Given the description of an element on the screen output the (x, y) to click on. 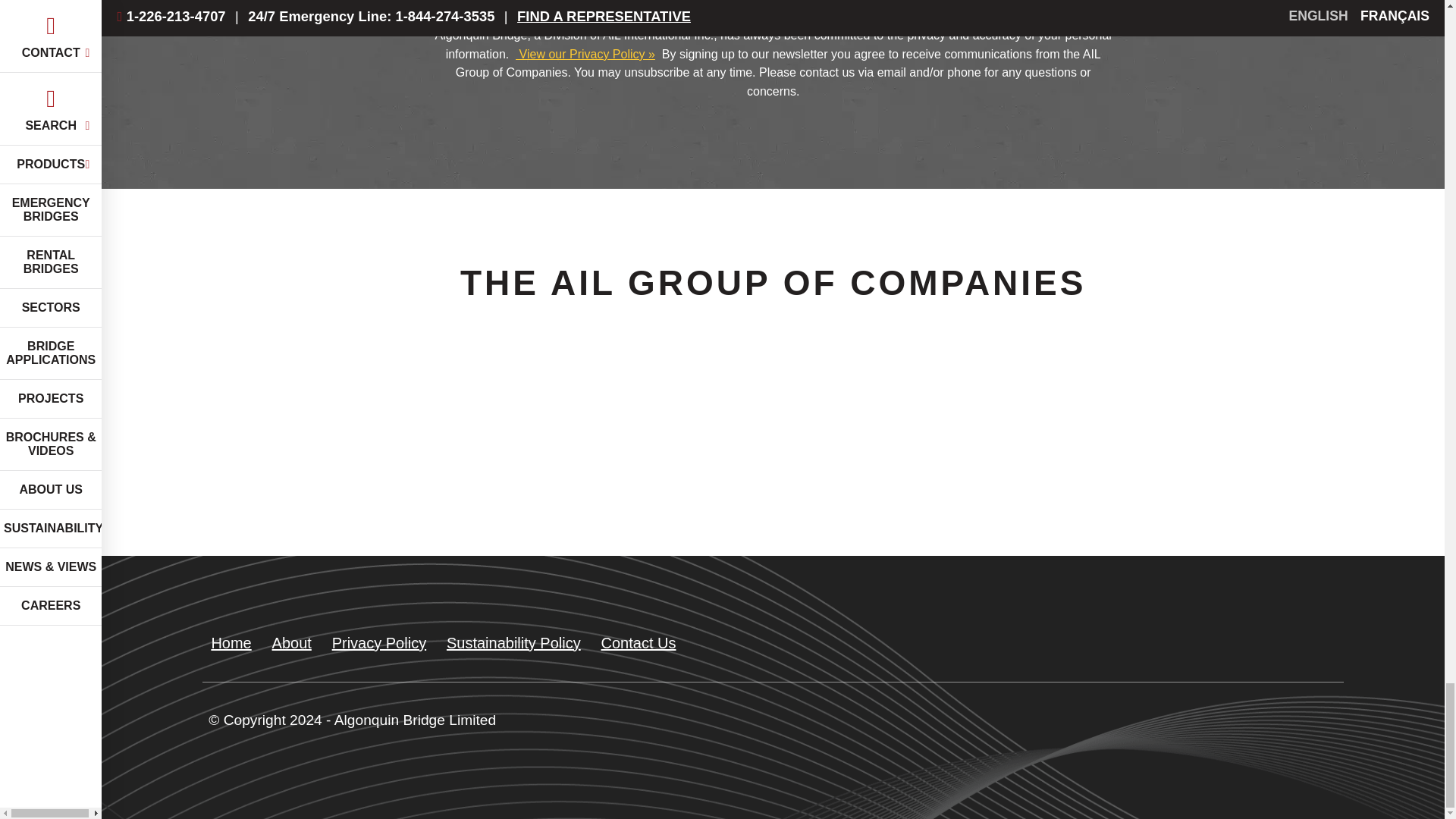
AIL (328, 461)
AIL Internatinoal (784, 461)
Algonquin Bridge (556, 461)
AIL Mining (1241, 461)
AIL Soundwalls (1013, 461)
